Given the description of an element on the screen output the (x, y) to click on. 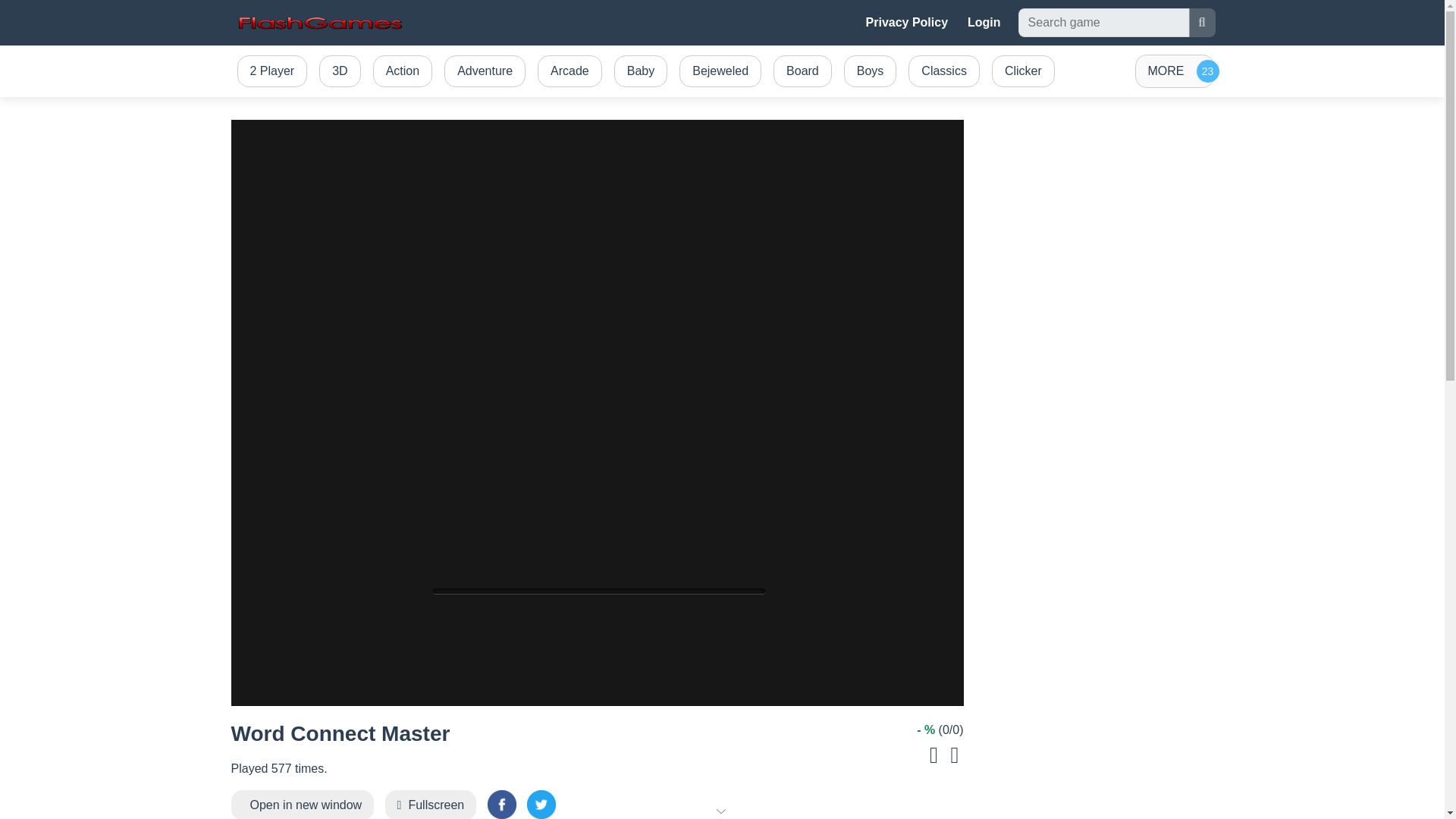
Privacy Policy (907, 22)
Baby (640, 71)
Login (983, 22)
Adventure (484, 71)
Classics (943, 71)
Bejeweled (719, 71)
Boys (870, 71)
MORE (1173, 70)
2 Player (271, 71)
Ad.Plus Advertising (722, 809)
Board (802, 71)
3D (339, 71)
Action (402, 71)
Clicker (1023, 71)
Arcade (569, 71)
